Given the description of an element on the screen output the (x, y) to click on. 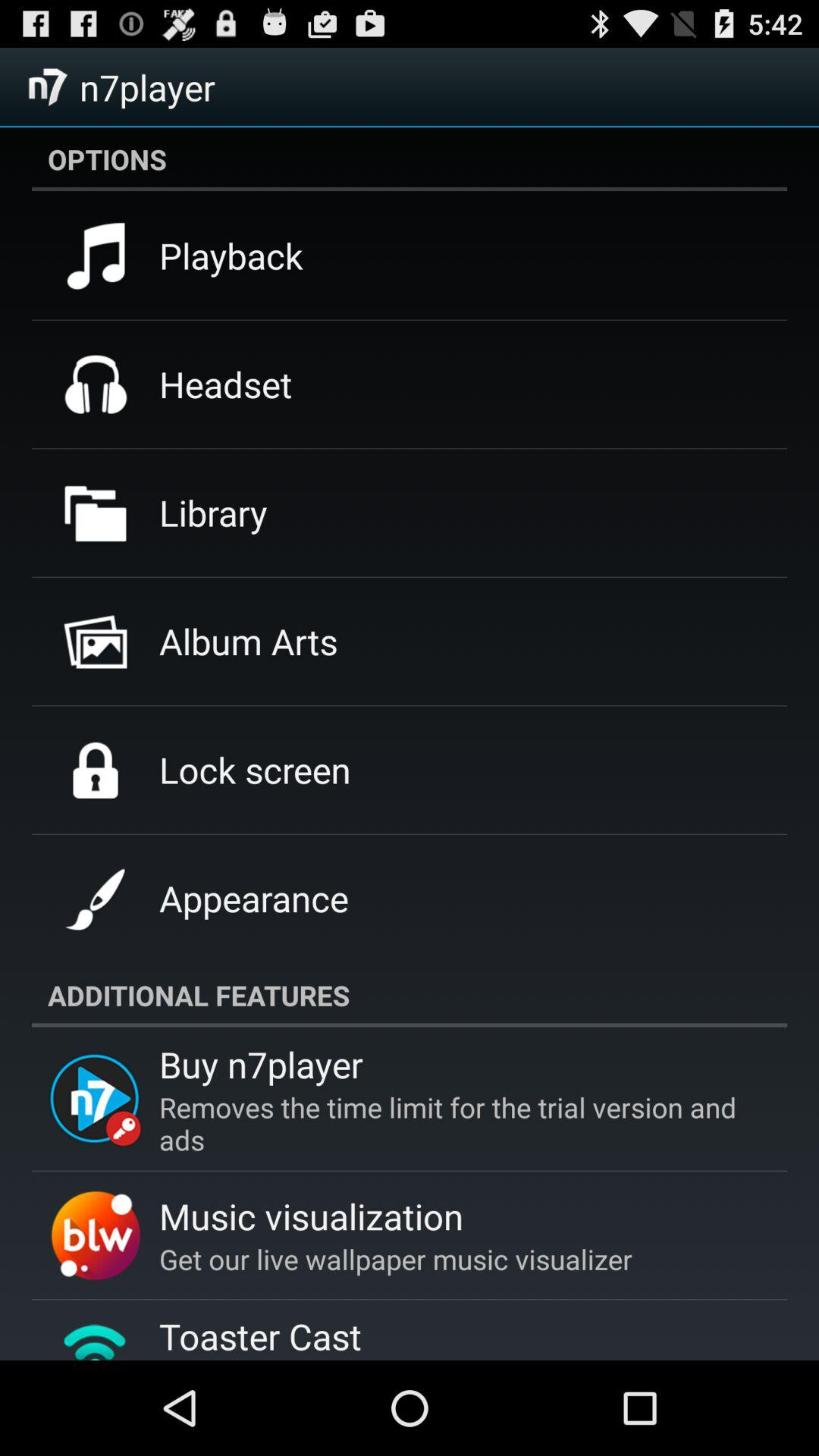
open app above the removes the time (260, 1064)
